Given the description of an element on the screen output the (x, y) to click on. 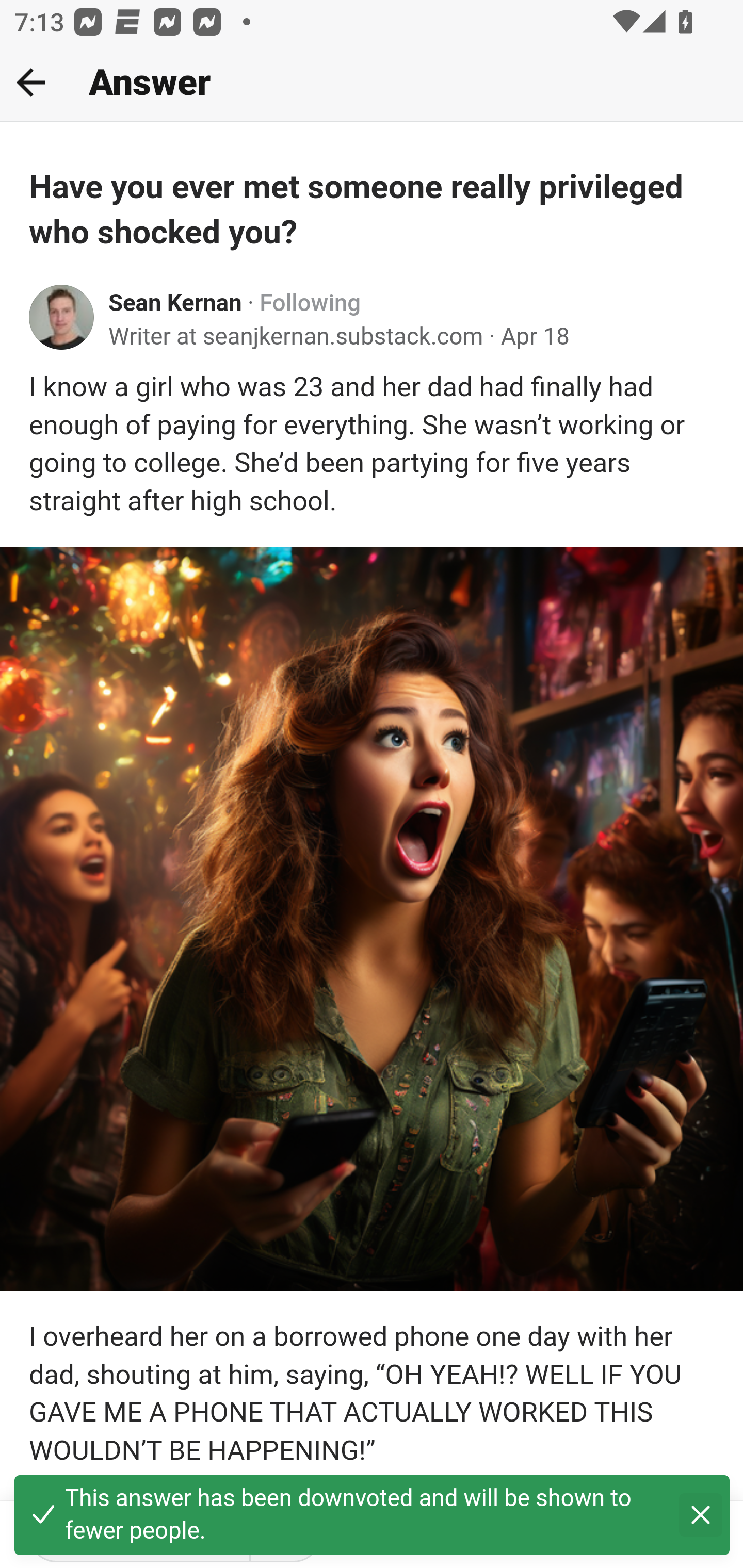
Me Following Search Add (371, 82)
Back (30, 82)
Profile photo for Sean Kernan (61, 317)
Sean Kernan (175, 303)
Following (309, 303)
Apr 18 (535, 336)
main-qimg-cba6d6d5034bdcb4992ee967c8b98a12 (371, 918)
